Given the description of an element on the screen output the (x, y) to click on. 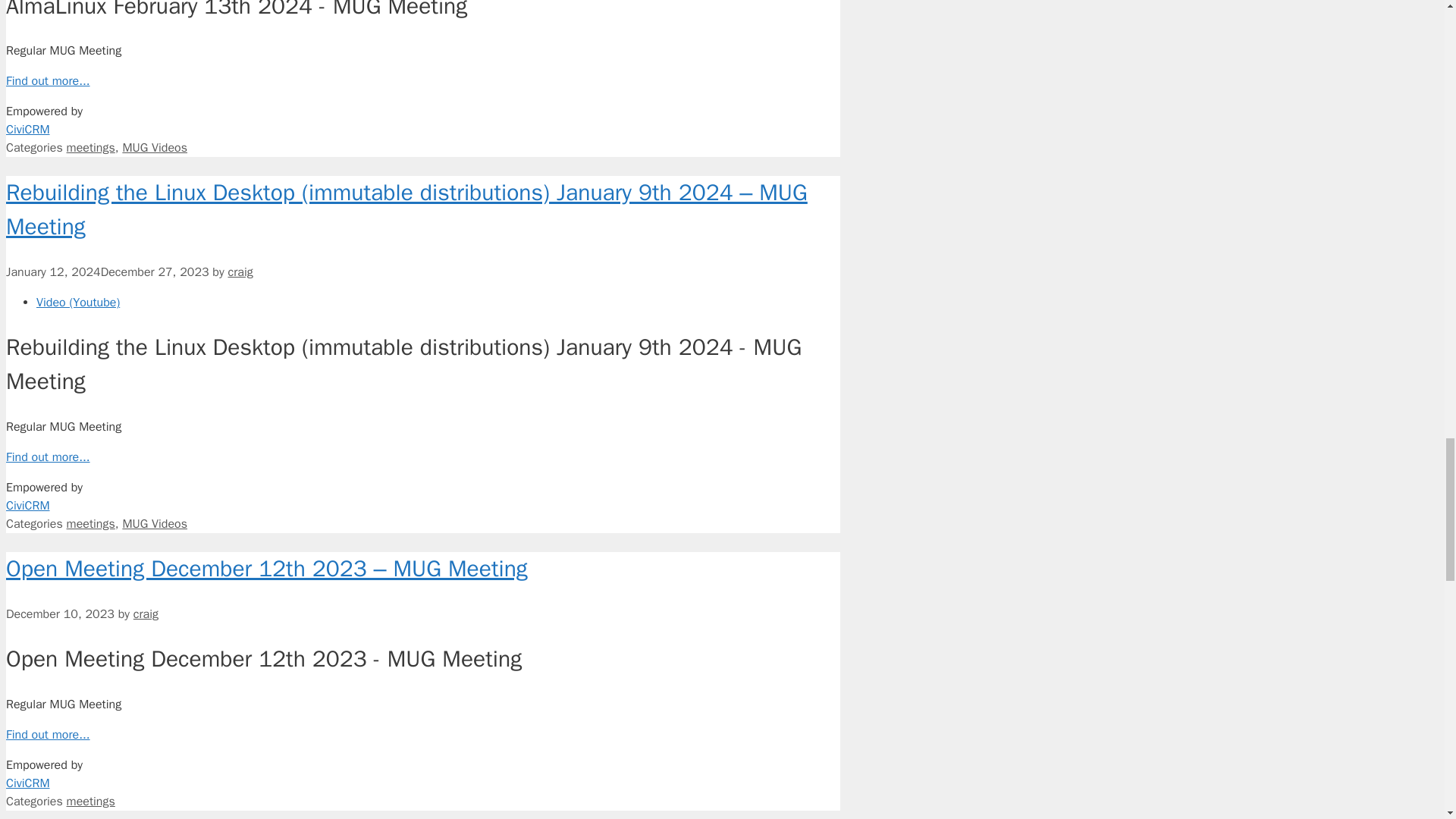
CiviCRM.org - Growing and Sustaining Relationships (422, 137)
CiviCRM.org - Growing and Sustaining Relationships (422, 513)
CiviCRM (422, 137)
Find out more... (47, 80)
CiviCRM.org - Growing and Sustaining Relationships (422, 791)
View all posts by craig (239, 272)
View all posts by craig (145, 613)
meetings (90, 147)
